Given the description of an element on the screen output the (x, y) to click on. 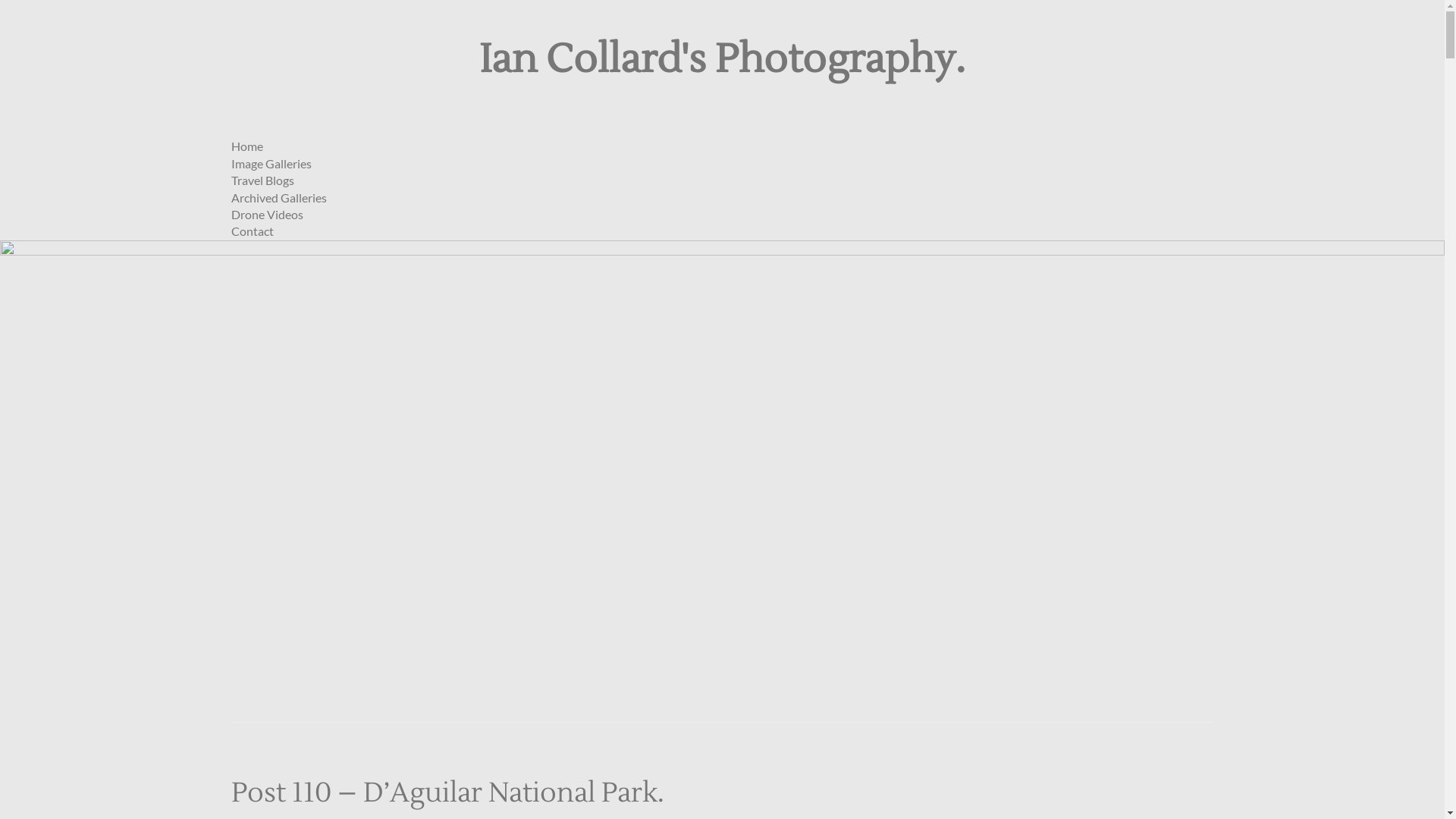
Travel Blogs Element type: text (261, 179)
Drone Videos Element type: text (266, 214)
Home Element type: text (246, 145)
Contact Element type: text (251, 230)
Image Galleries Element type: text (270, 163)
Archived Galleries Element type: text (278, 197)
Ian Collard's Photography. Element type: text (721, 59)
